Given the description of an element on the screen output the (x, y) to click on. 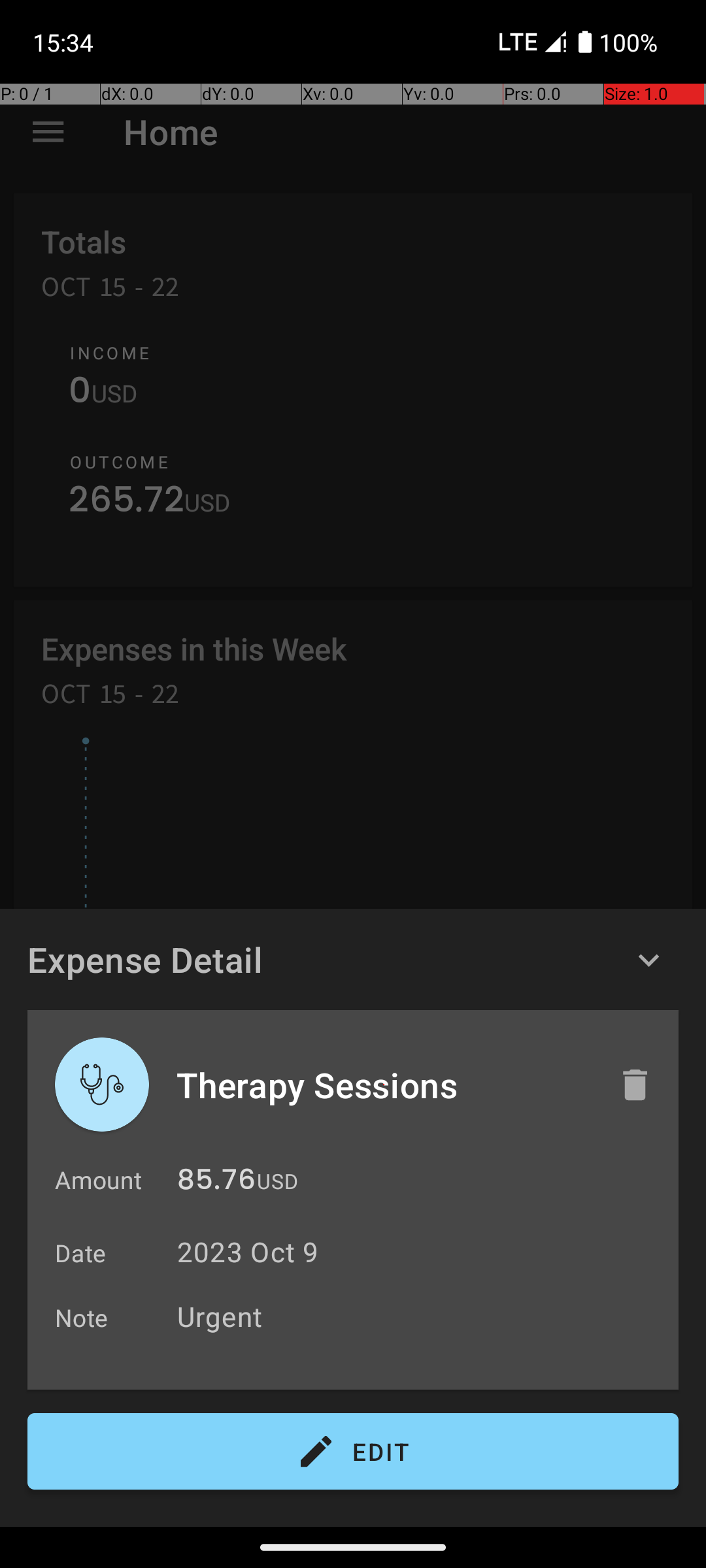
Therapy Sessions Element type: android.widget.TextView (383, 1084)
85.76 Element type: android.widget.TextView (216, 1182)
